Given the description of an element on the screen output the (x, y) to click on. 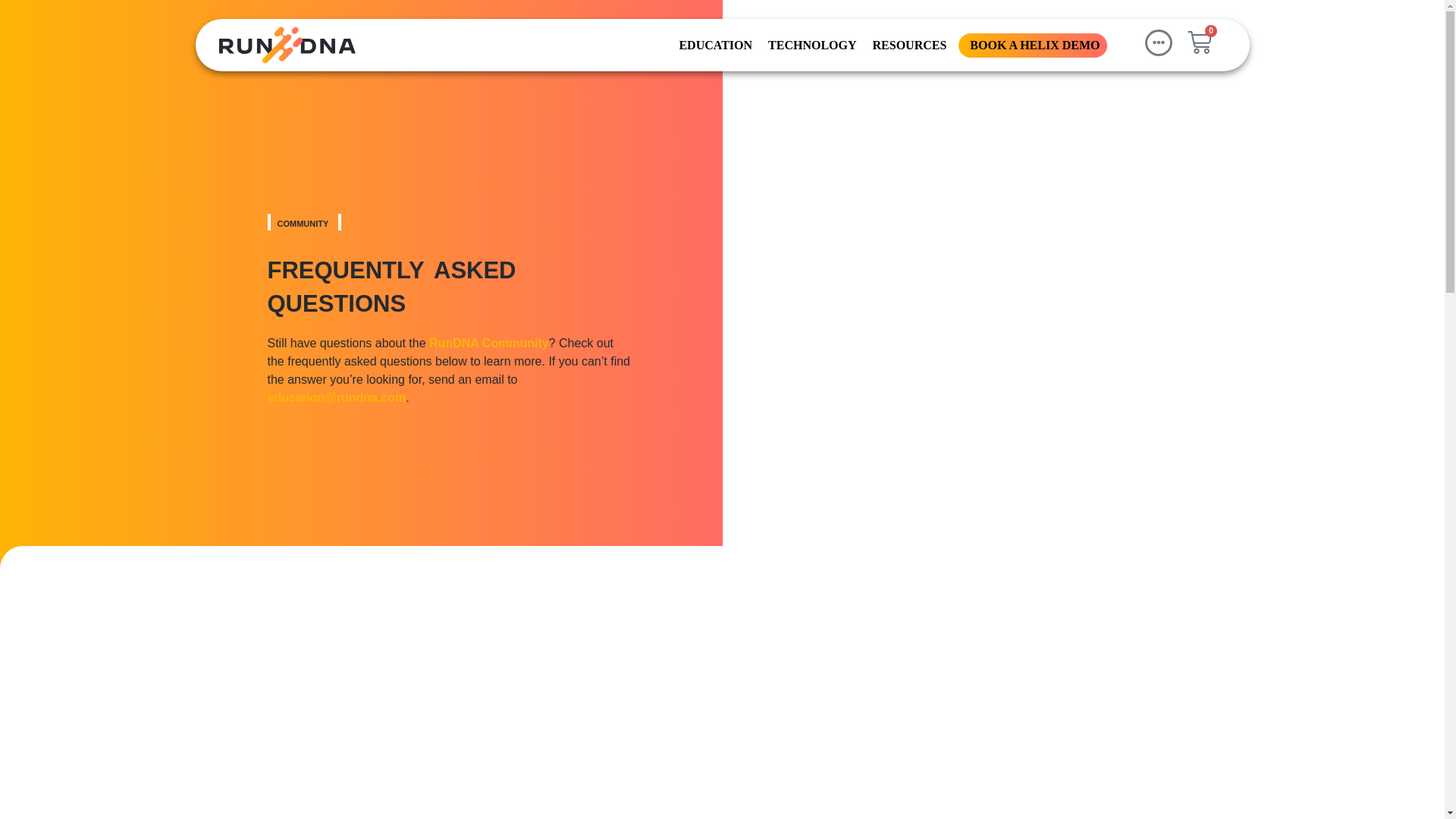
customize (1142, 757)
RESOURCES (908, 44)
EDUCATION (713, 44)
TECHNOLOGY (810, 44)
reject all (1243, 757)
BOOK A HELIX DEMO (1032, 44)
accept all (1348, 757)
